Given the description of an element on the screen output the (x, y) to click on. 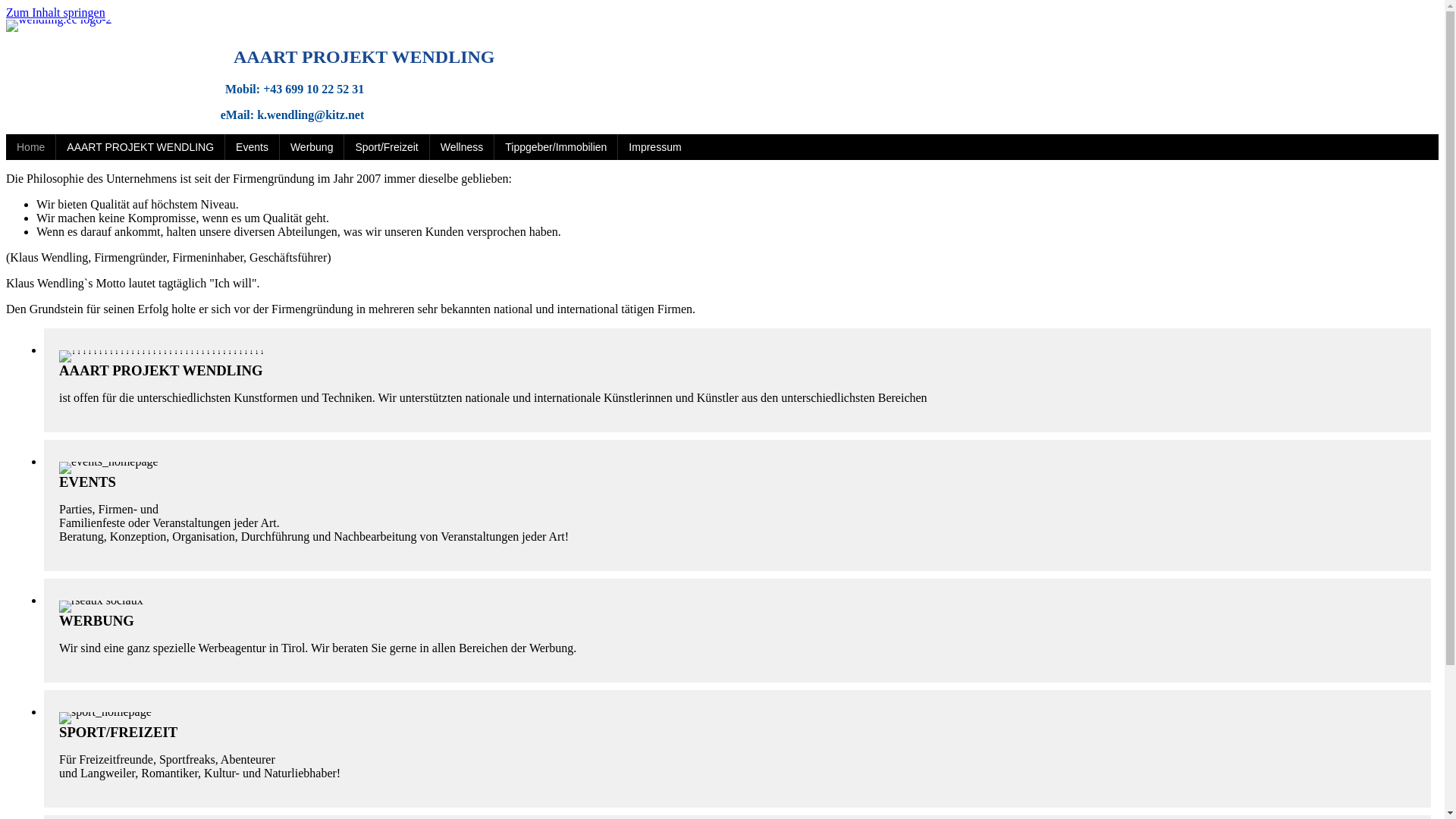
sport_homepage Element type: hover (105, 718)
wendling.cc logo-2 Element type: hover (59, 25)
events_homepage Element type: hover (108, 467)
Events Element type: text (252, 147)
Konformismus-Format-1024x732 Element type: hover (162, 356)
Zum Inhalt springen Element type: text (55, 12)
Home Element type: text (30, 147)
+43 699 10 22 52 31 Element type: text (313, 88)
Tippgeber/Immobilien Element type: text (555, 147)
k.wendling@kitz.net Element type: text (310, 114)
Werbung Element type: text (311, 147)
Wellness Element type: text (461, 147)
Impressum Element type: text (654, 147)
rseaux sociaux Element type: hover (101, 606)
Sport/Freizeit Element type: text (386, 147)
AAART PROJEKT WENDLING Element type: text (140, 147)
